Given the description of an element on the screen output the (x, y) to click on. 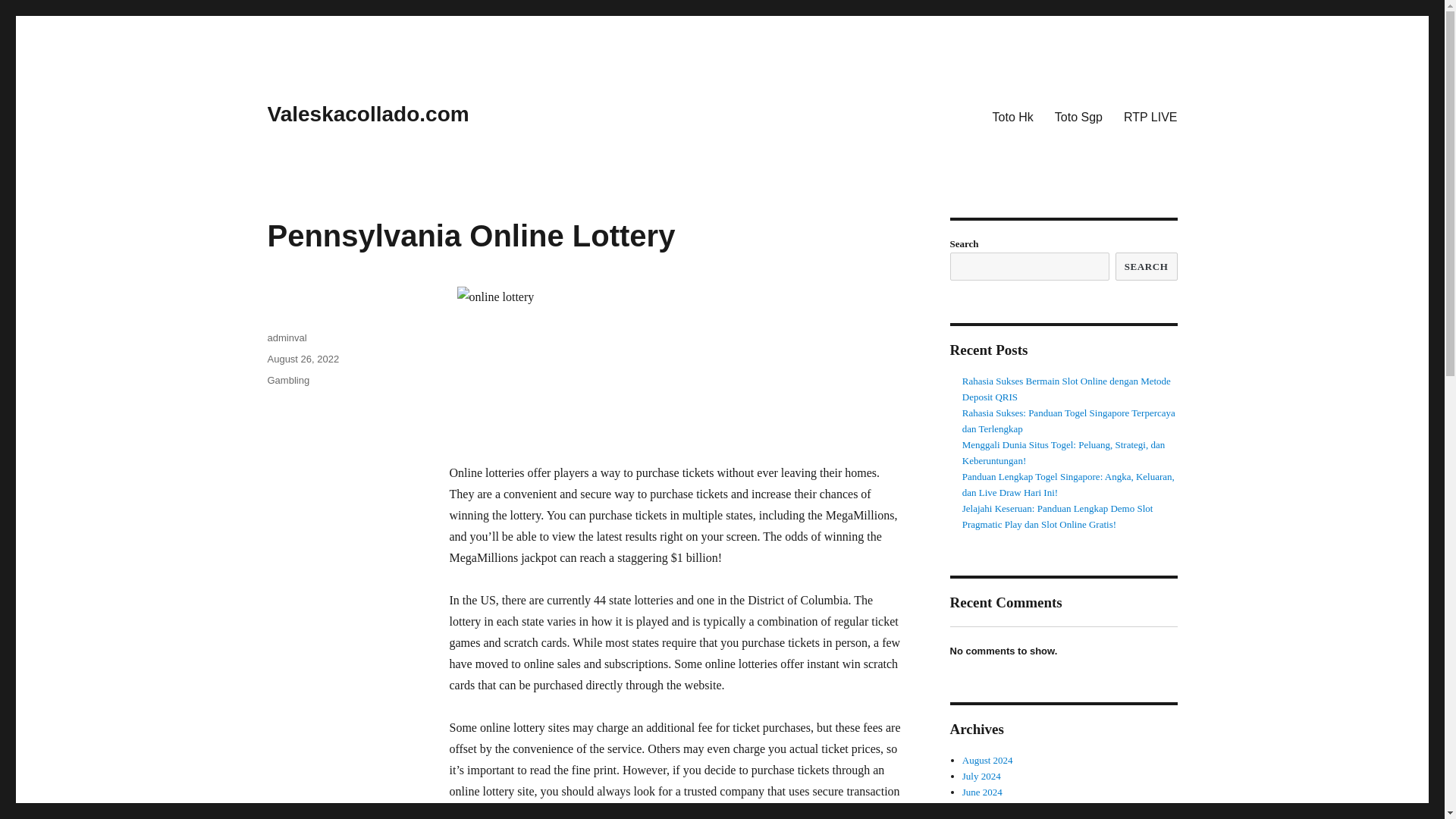
adminval (285, 337)
August 2024 (987, 759)
June 2024 (982, 791)
RTP LIVE (1150, 116)
May 2024 (982, 808)
Toto Sgp (1078, 116)
July 2024 (981, 776)
SEARCH (1146, 266)
